Given the description of an element on the screen output the (x, y) to click on. 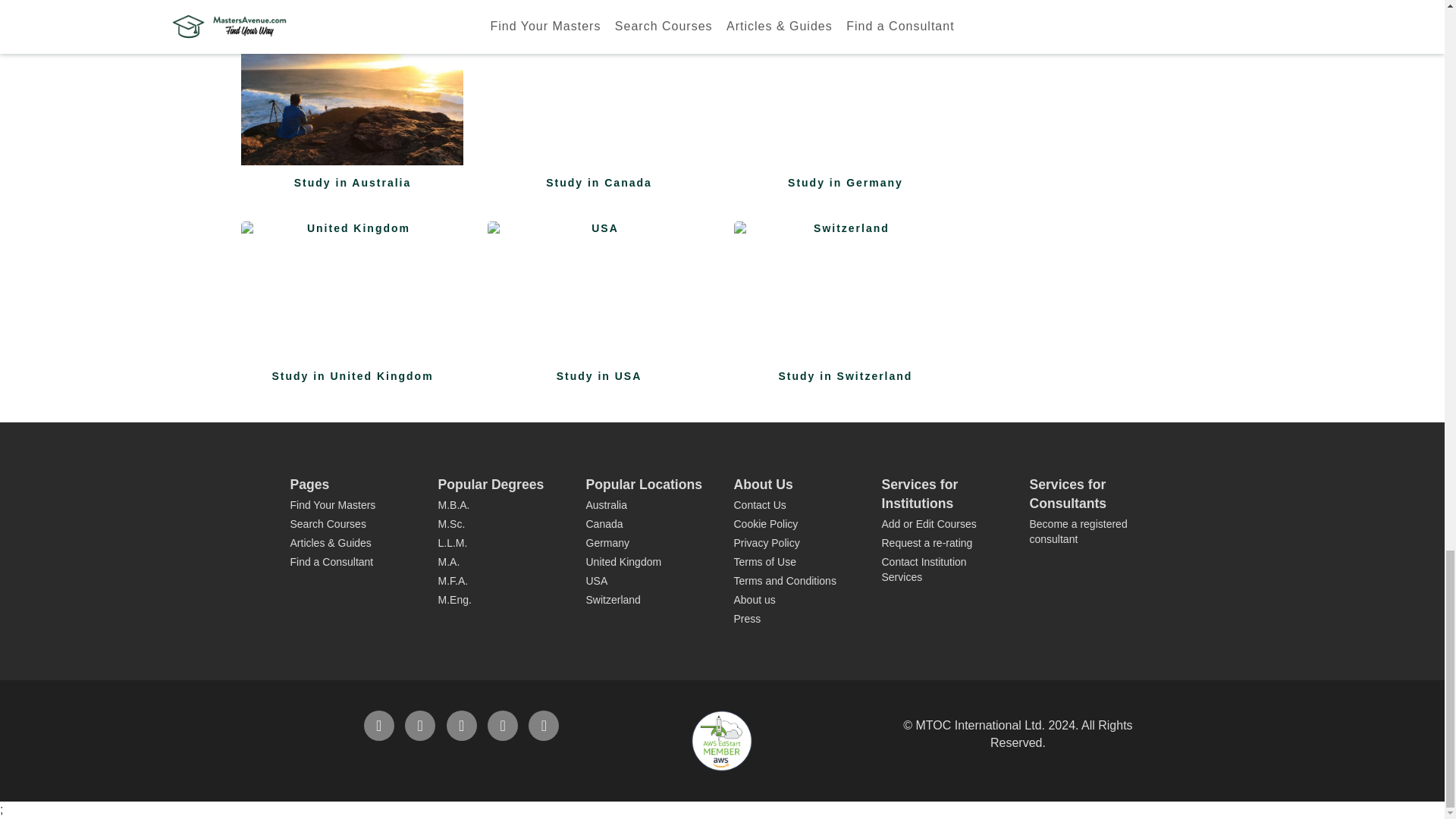
Find Your Masters (332, 504)
Study in Germany (844, 101)
M.Sc. (500, 524)
L.L.M. (500, 543)
Study in USA (598, 295)
Study in United Kingdom (352, 295)
Study in Switzerland (844, 295)
Study in Australia (352, 101)
M.B.A. (500, 505)
Study in Canada (598, 101)
Find a Consultant (330, 562)
Search Courses (327, 523)
